Given the description of an element on the screen output the (x, y) to click on. 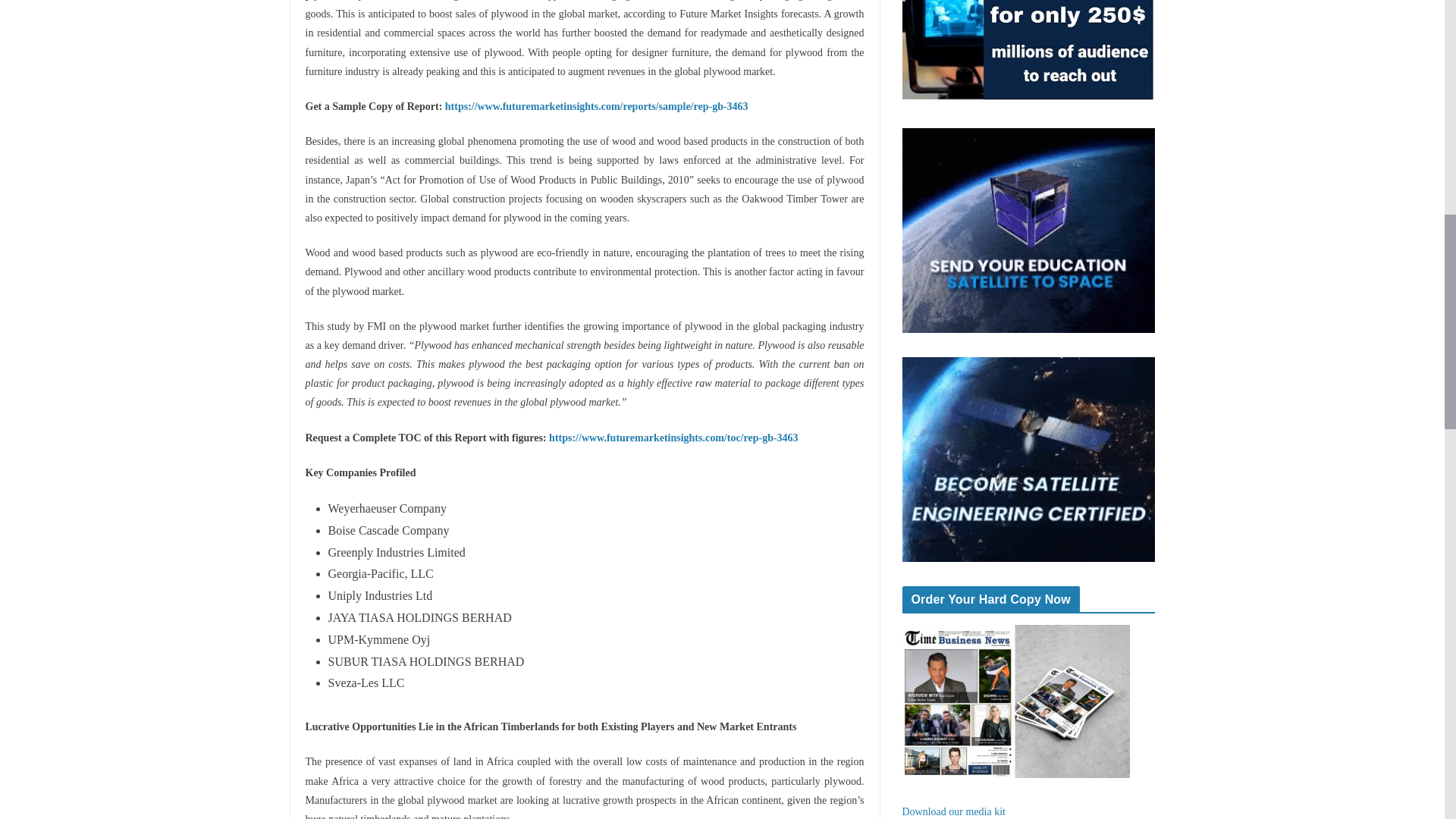
Download our media kit (954, 811)
